Given the description of an element on the screen output the (x, y) to click on. 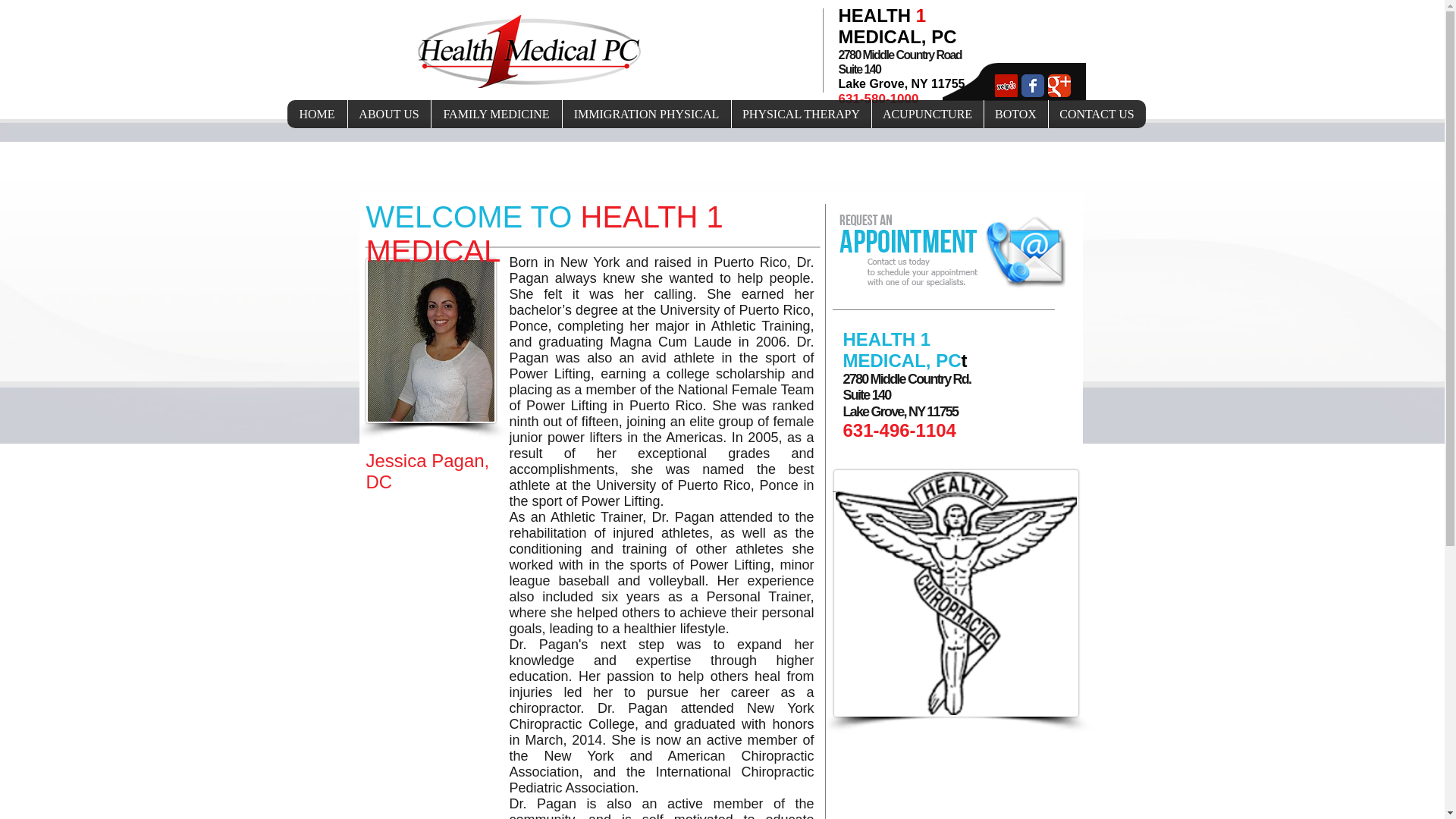
BOTOX (1014, 113)
chiro10.png (956, 593)
ACUPUNCTURE (926, 113)
HOME (316, 113)
FAMILY MEDICINE (496, 113)
PHYSICAL THERAPY (800, 113)
ABOUT US (388, 113)
CONTACT US (1096, 113)
IMMIGRATION PHYSICAL (645, 113)
